Given the description of an element on the screen output the (x, y) to click on. 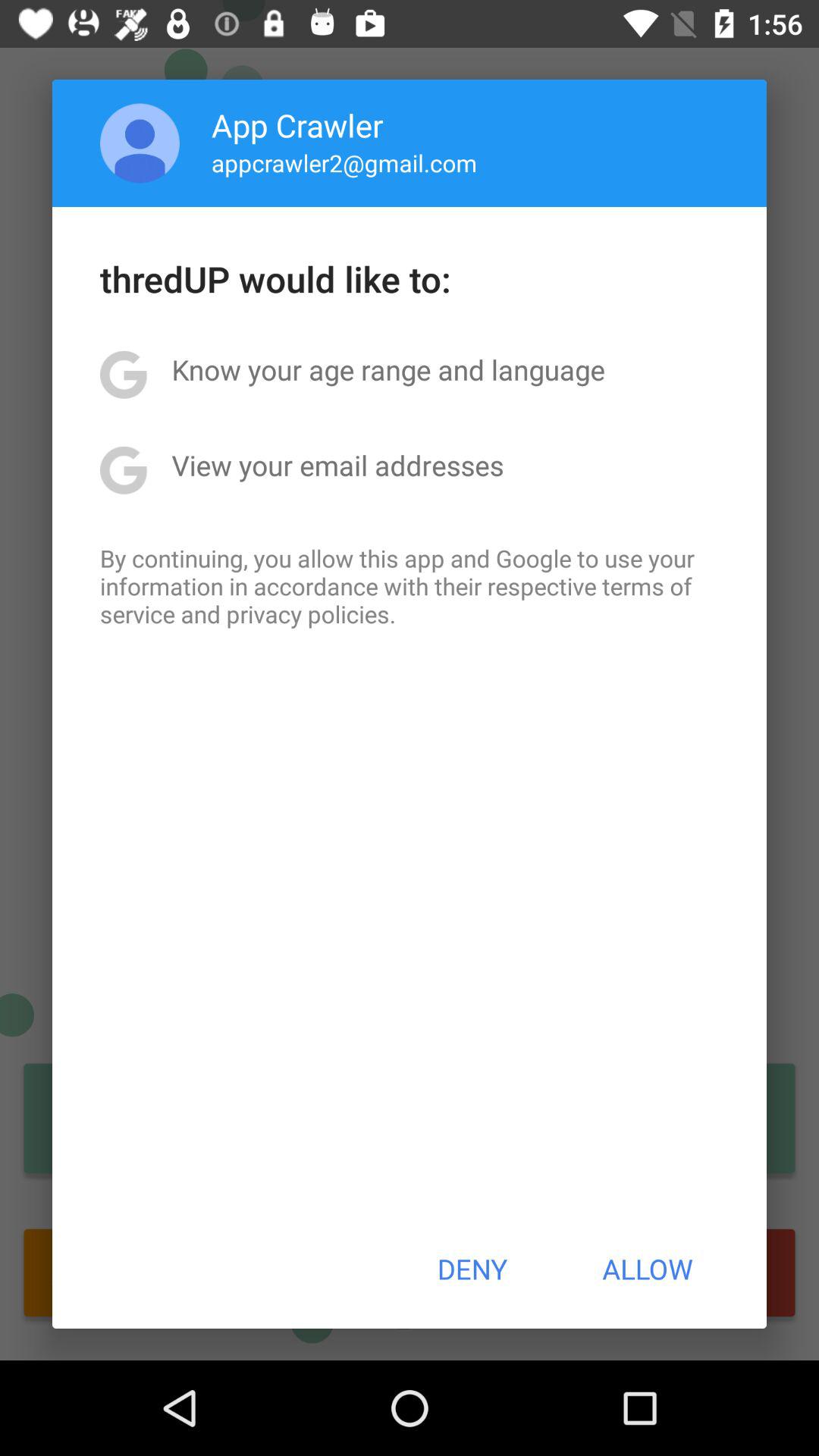
turn on item next to the allow button (471, 1268)
